Given the description of an element on the screen output the (x, y) to click on. 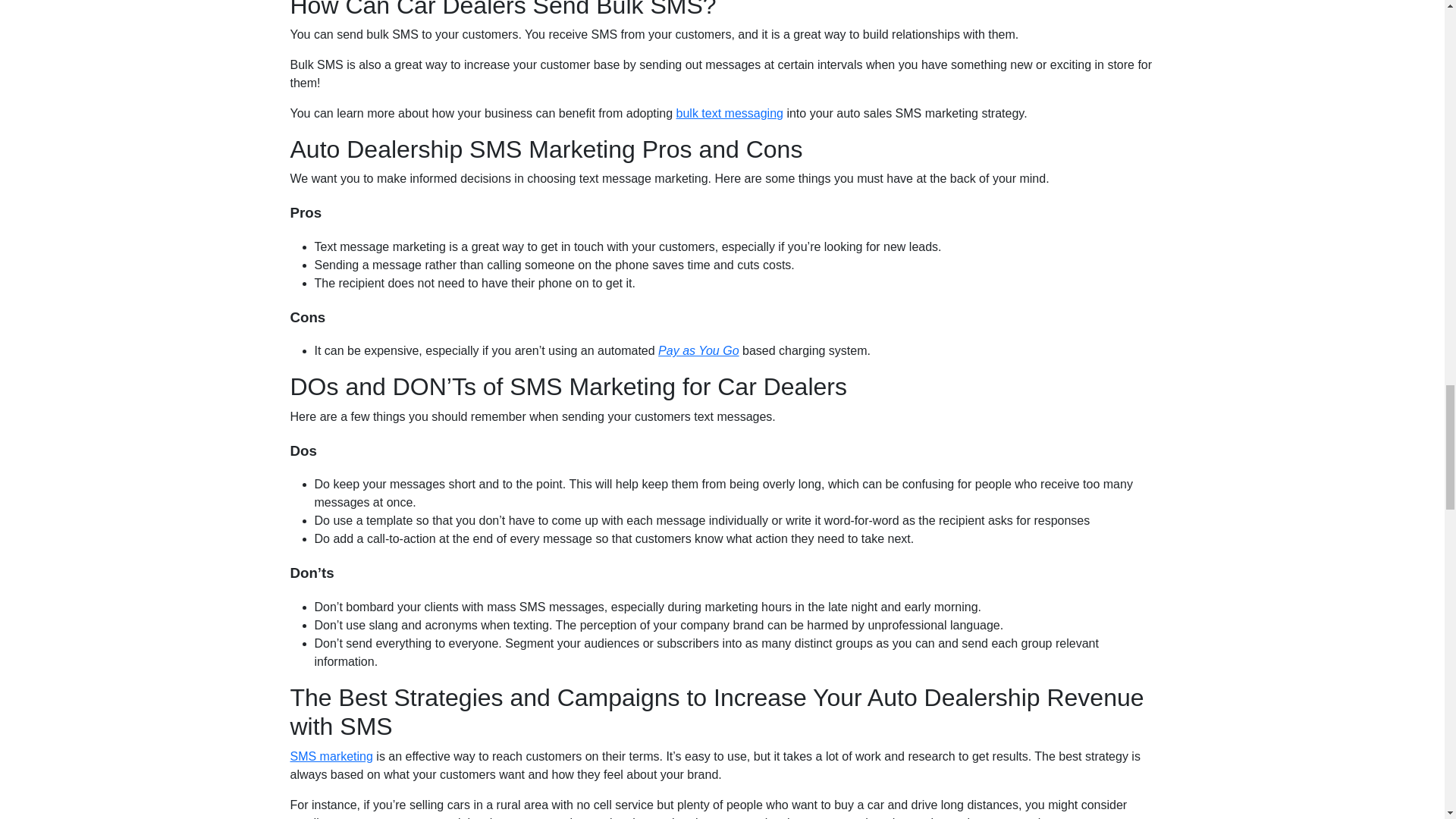
SMS marketing (330, 756)
Pay as You Go (698, 350)
bulk text messaging (730, 113)
